Given the description of an element on the screen output the (x, y) to click on. 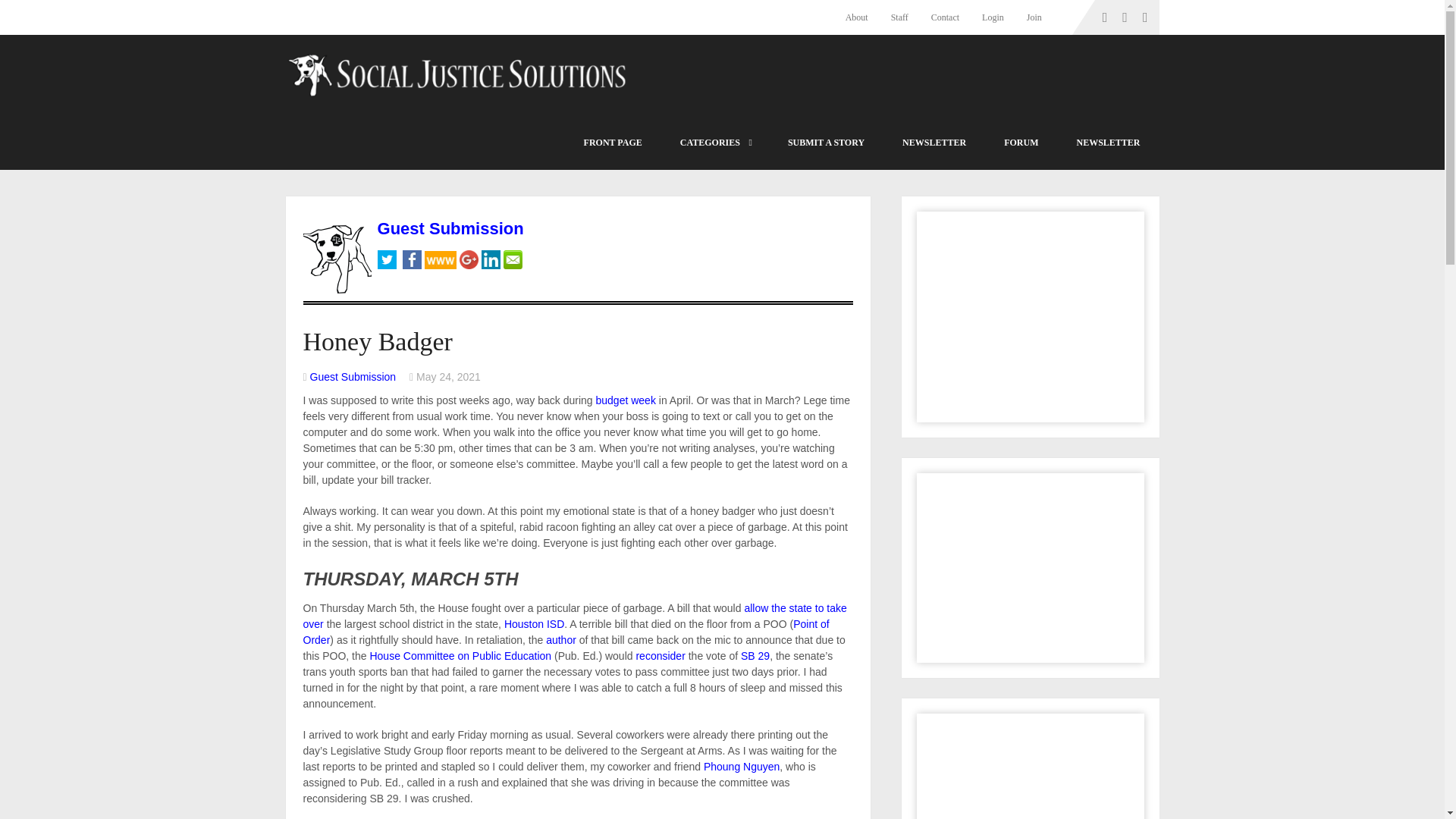
CATEGORIES (714, 142)
SB 29 (755, 655)
Contact (945, 17)
Posts by Guest Submission (353, 377)
Latest (612, 142)
Point of Order (565, 632)
Categories (714, 142)
FORUM (1021, 142)
About Social Justice Solutions (862, 17)
Phoung Nguyen (740, 766)
